Given the description of an element on the screen output the (x, y) to click on. 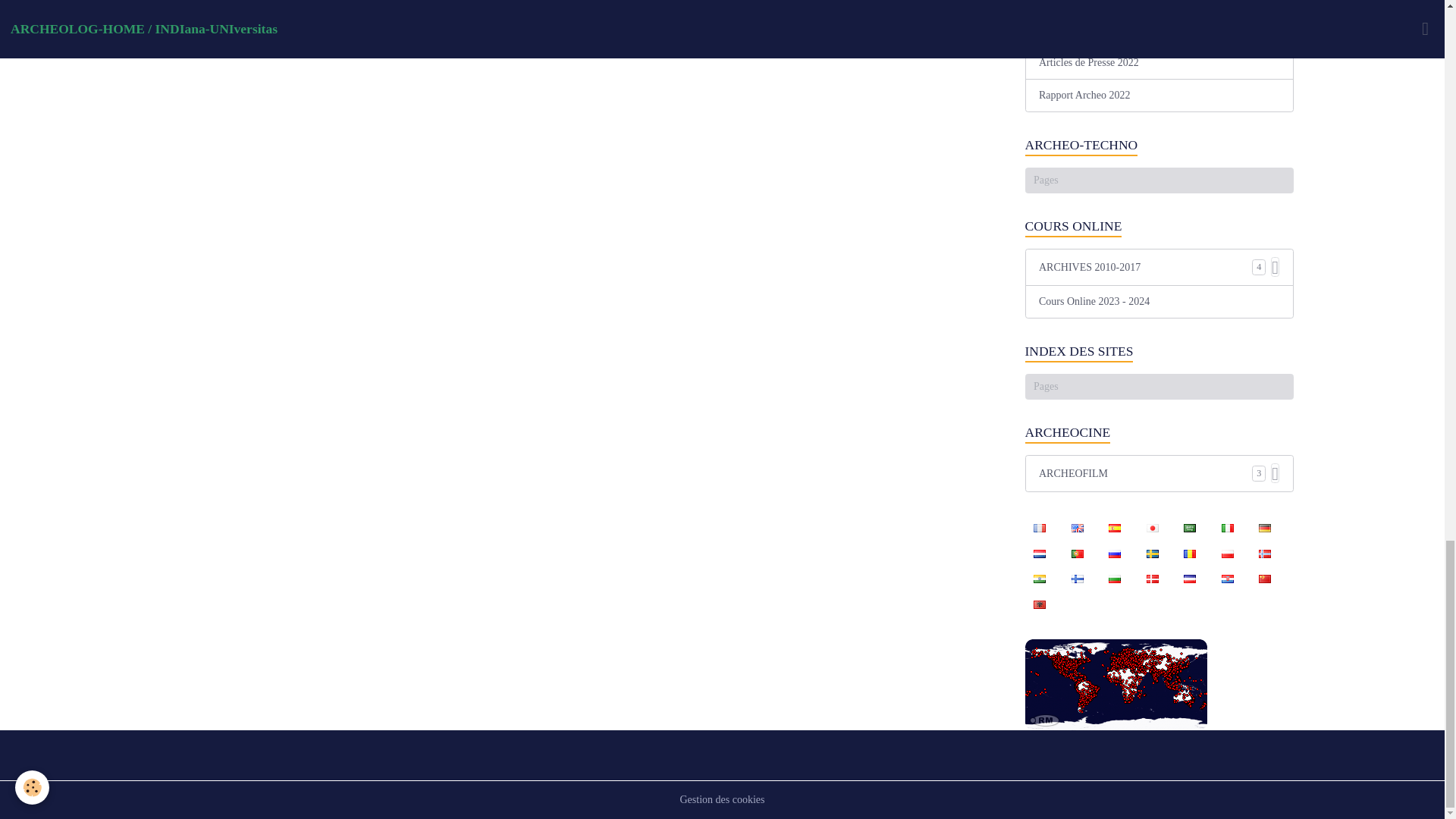
Italiano (1226, 527)
Japanese (1152, 527)
Romanian (1189, 552)
Bulgarian (1114, 578)
Norwegian (1264, 552)
Portuguesa (1077, 552)
Finnish (1077, 578)
Danish (1152, 578)
English (1077, 527)
Nederlands (1039, 552)
